Given the description of an element on the screen output the (x, y) to click on. 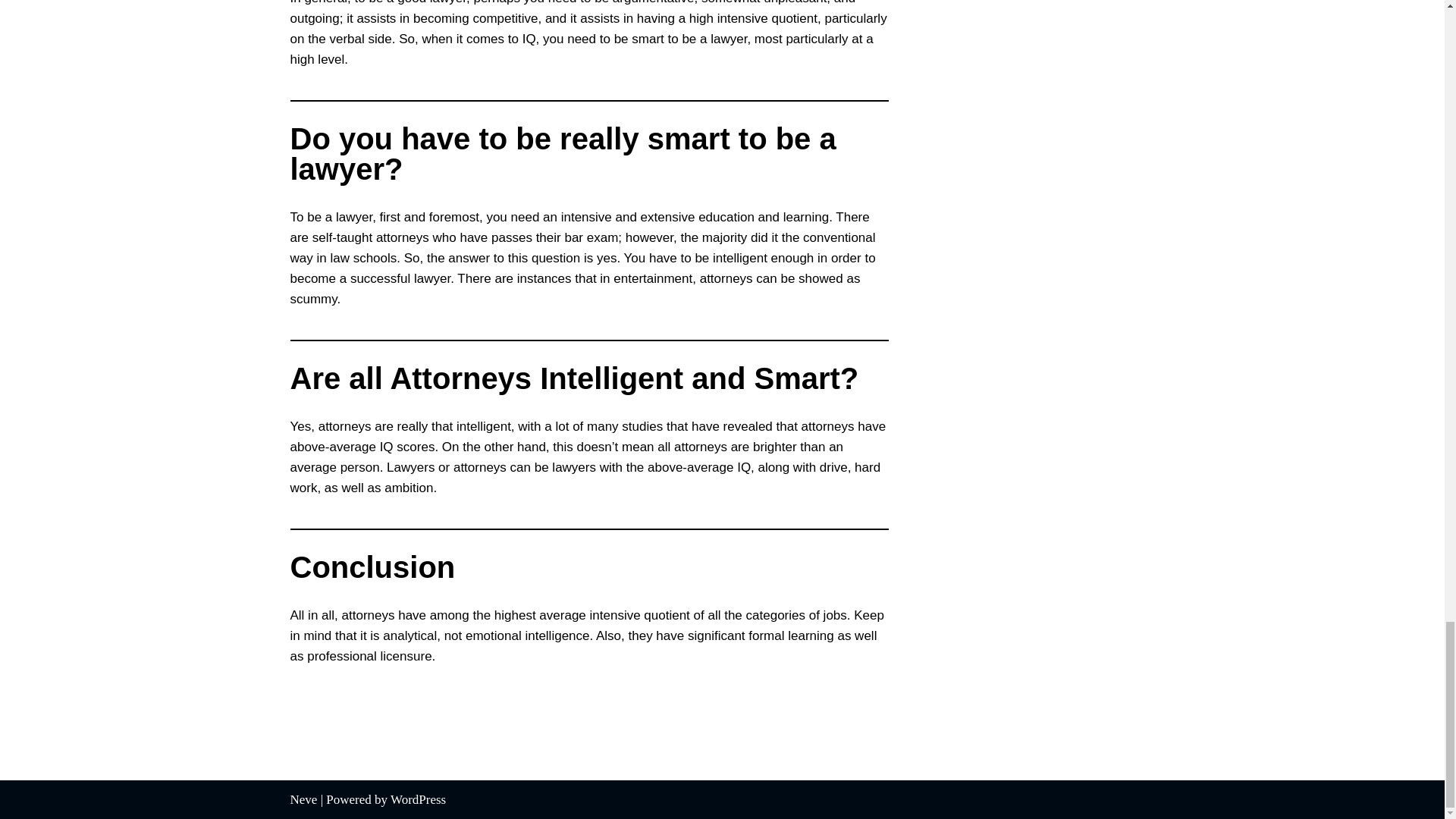
WordPress (417, 799)
Neve (303, 799)
